Given the description of an element on the screen output the (x, y) to click on. 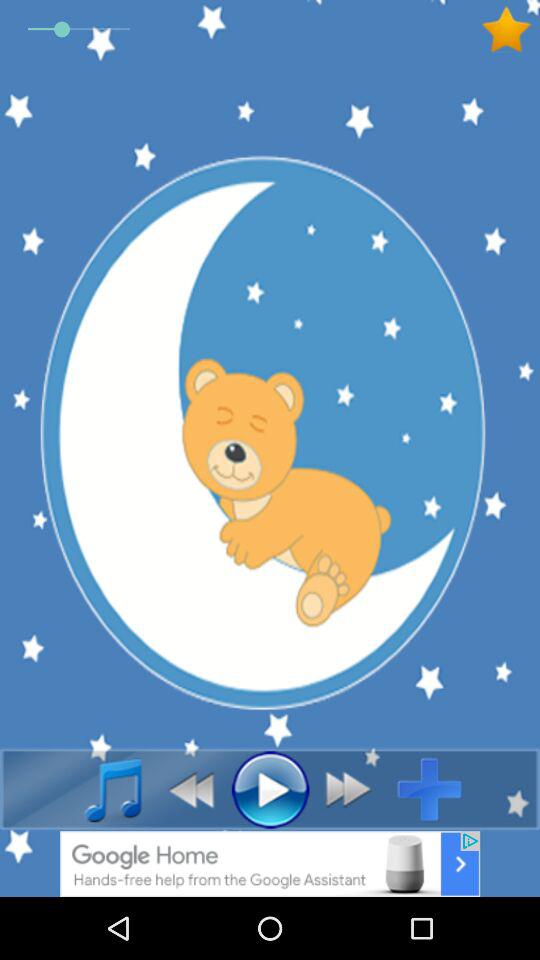
forward (353, 789)
